Given the description of an element on the screen output the (x, y) to click on. 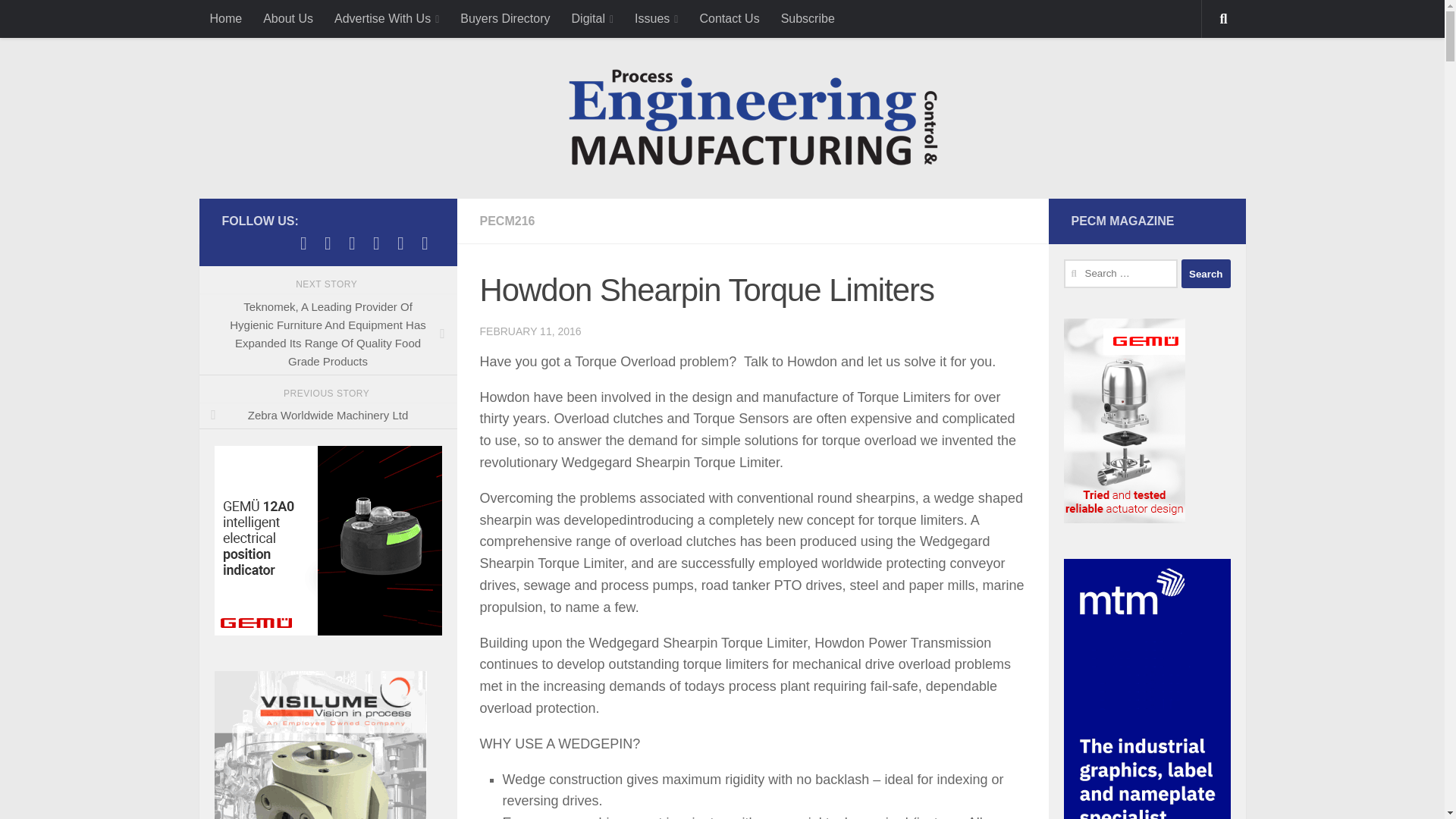
Advertise With Us (386, 18)
Search (1205, 273)
Search (1205, 273)
About Us (287, 18)
Digital (592, 18)
Home (224, 18)
Skip to content (63, 20)
Buyers Directory (504, 18)
Issues (656, 18)
